Given the description of an element on the screen output the (x, y) to click on. 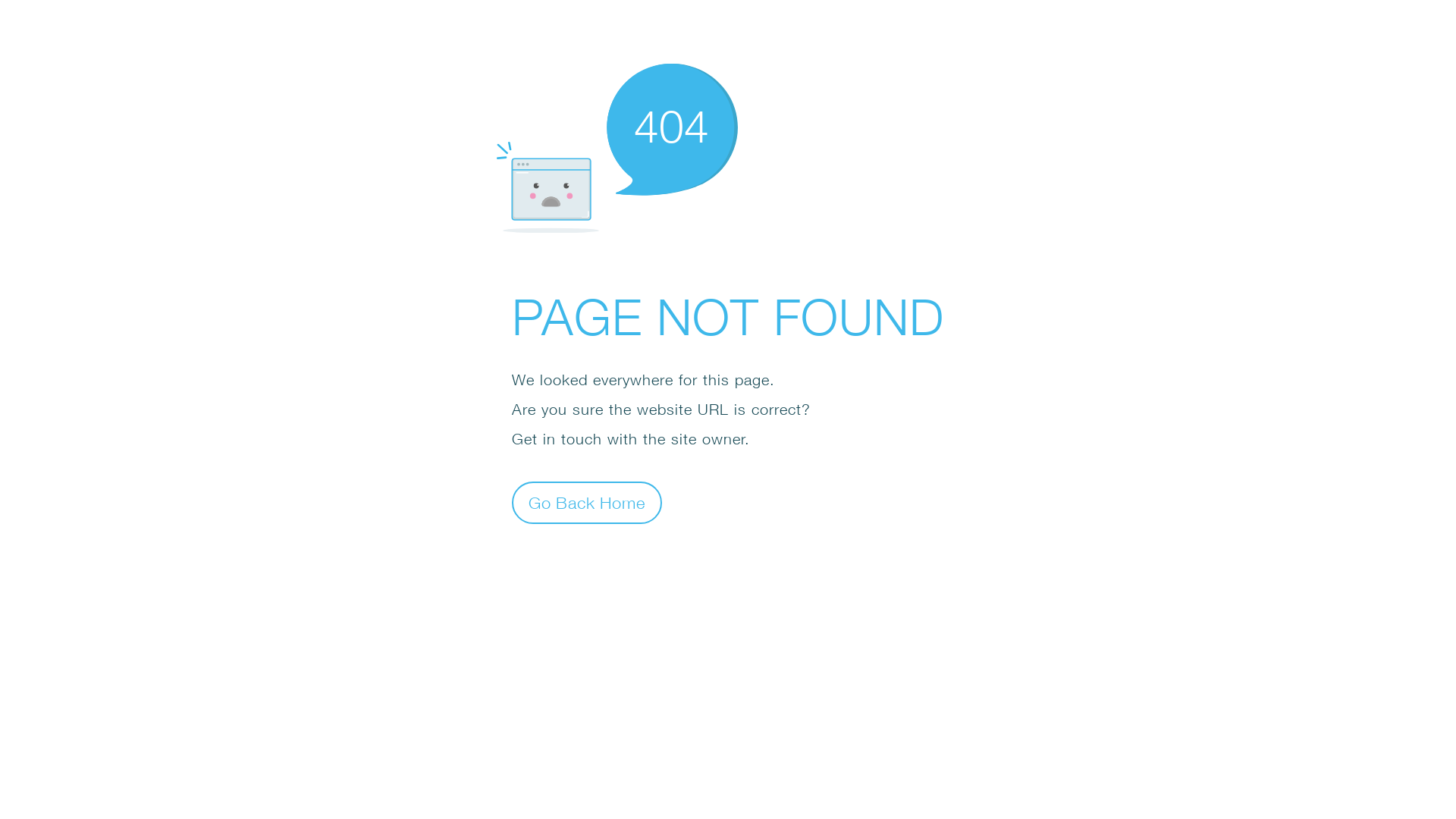
Go Back Home Element type: text (586, 502)
